Given the description of an element on the screen output the (x, y) to click on. 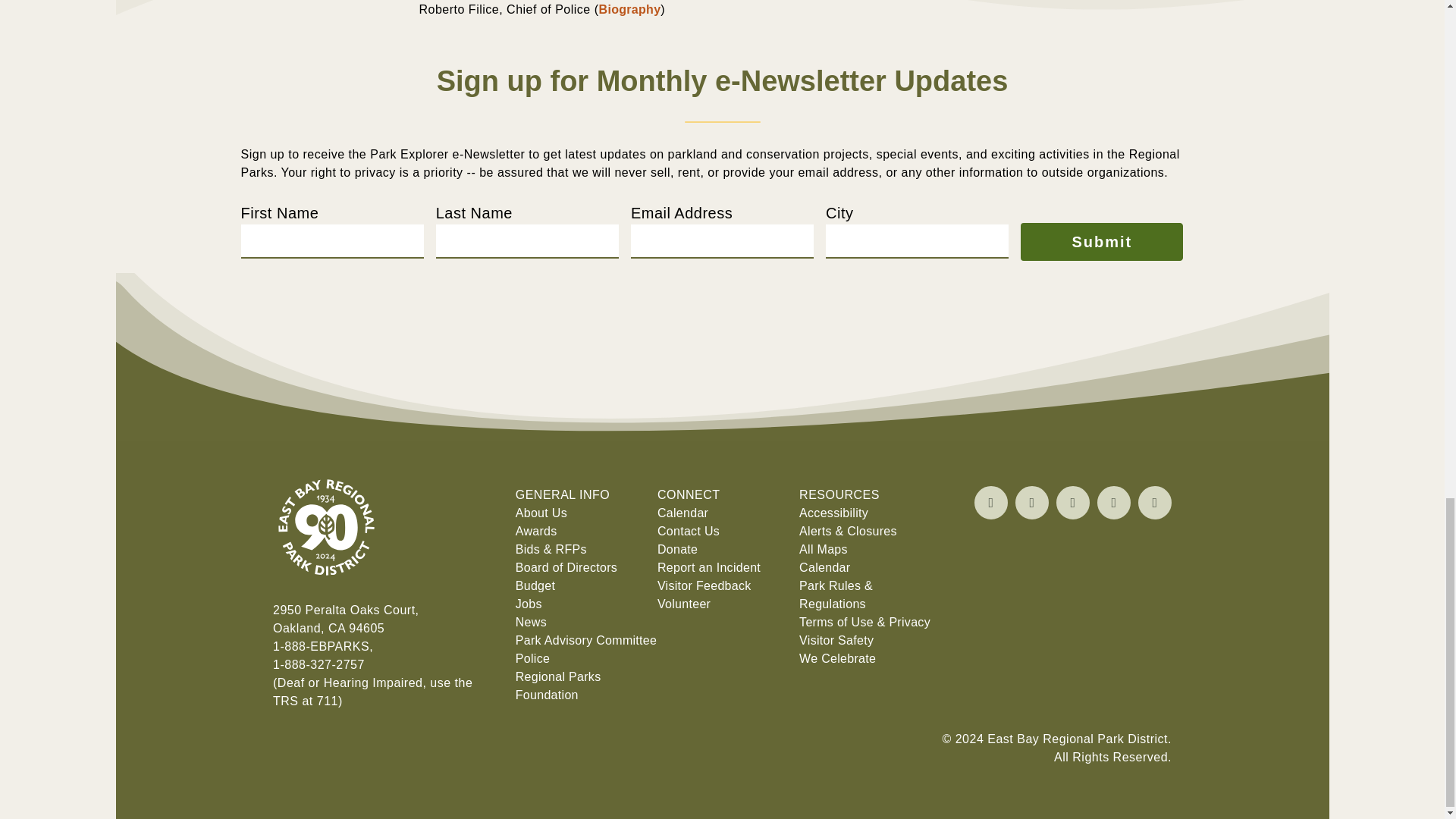
East Bay Parks (326, 591)
Submit (1101, 241)
